Given the description of an element on the screen output the (x, y) to click on. 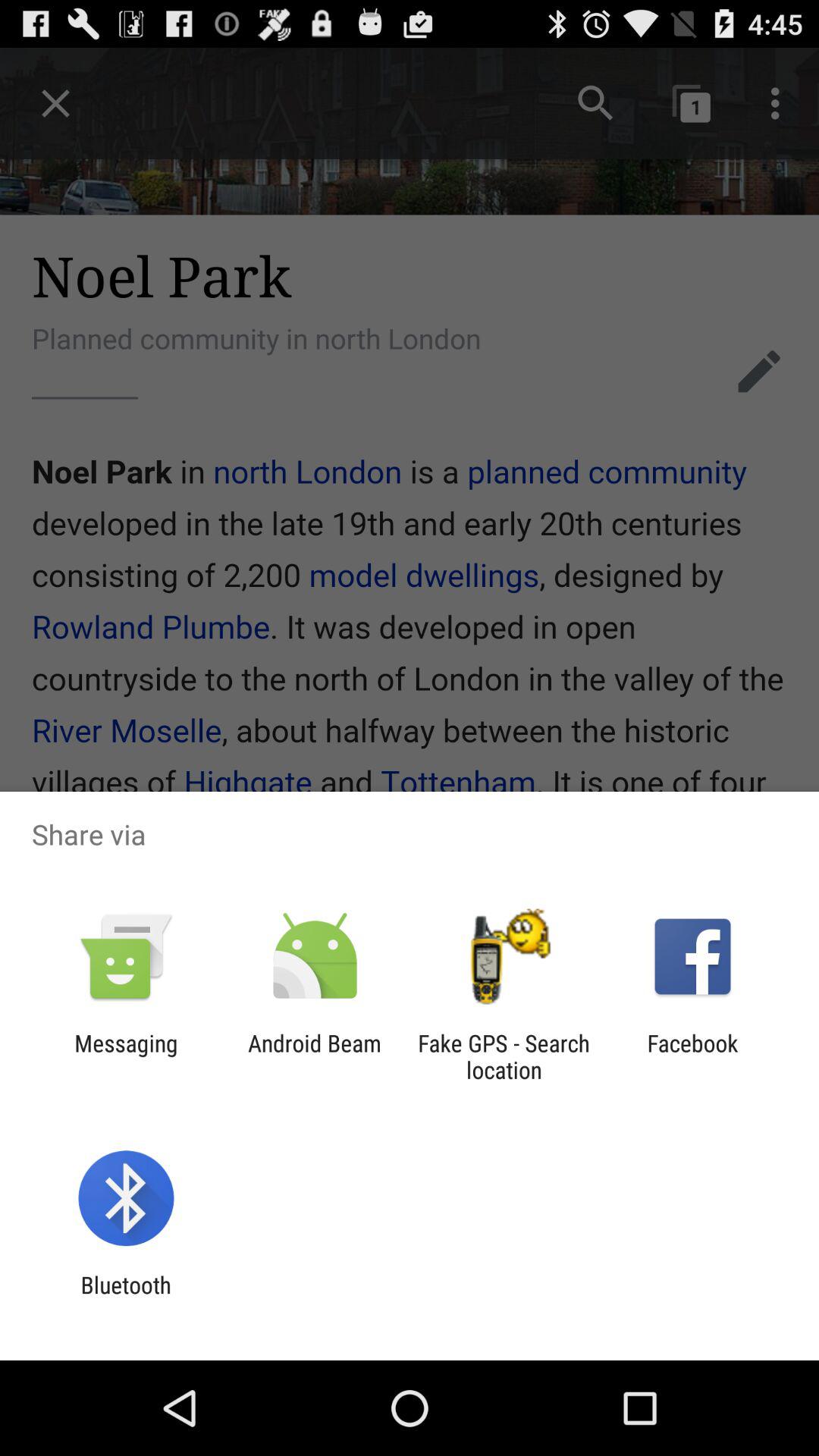
tap the icon next to the facebook (503, 1056)
